Given the description of an element on the screen output the (x, y) to click on. 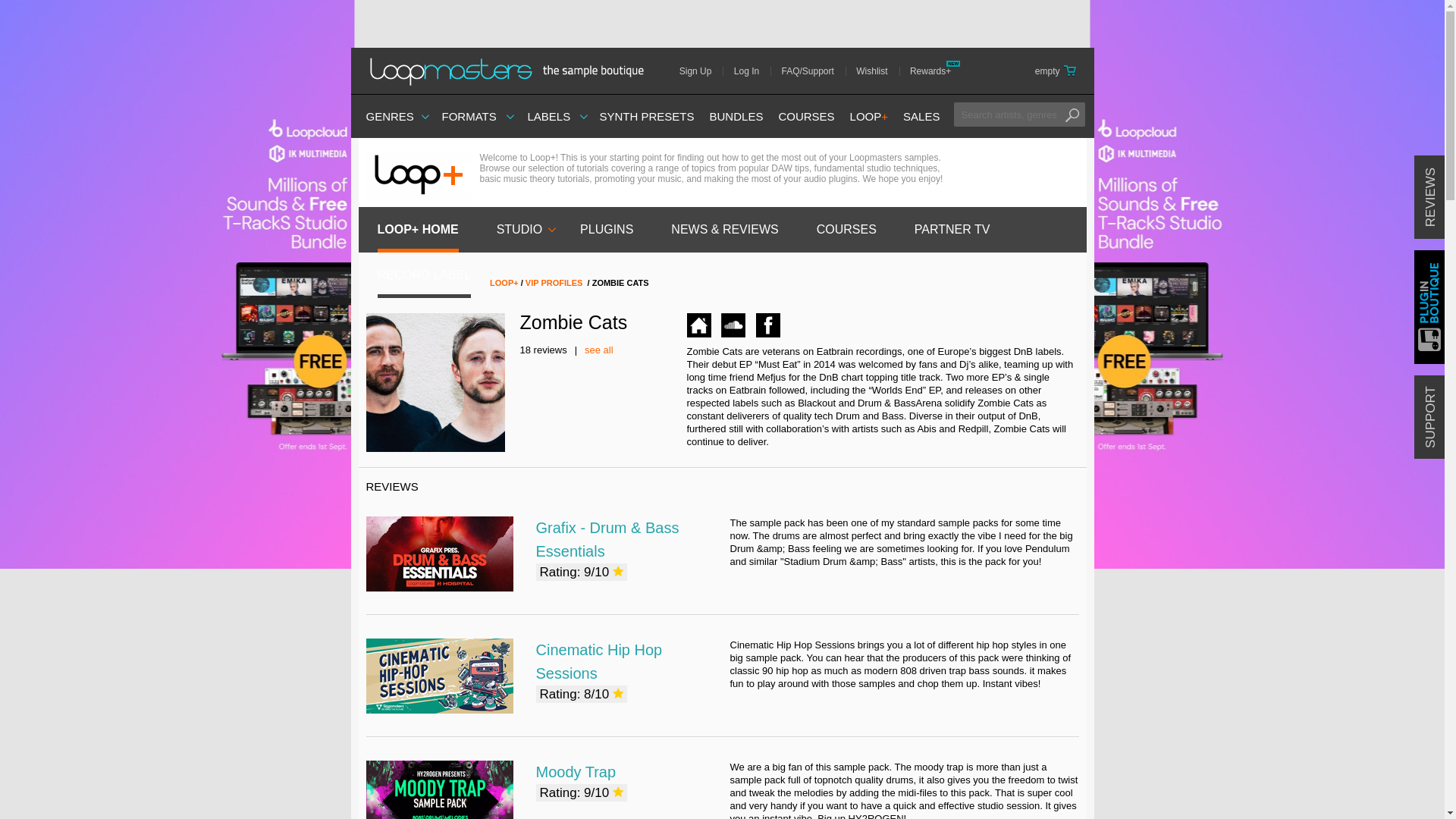
Loopmasters - the sample boutique (511, 71)
Wishlist (877, 71)
Log In (752, 71)
Sign Up (701, 71)
Show all genres (389, 115)
GENRES (389, 115)
Wishlist (877, 71)
Support and frequently questioned answers (812, 71)
Sign Up (701, 71)
Log In (752, 71)
